Given the description of an element on the screen output the (x, y) to click on. 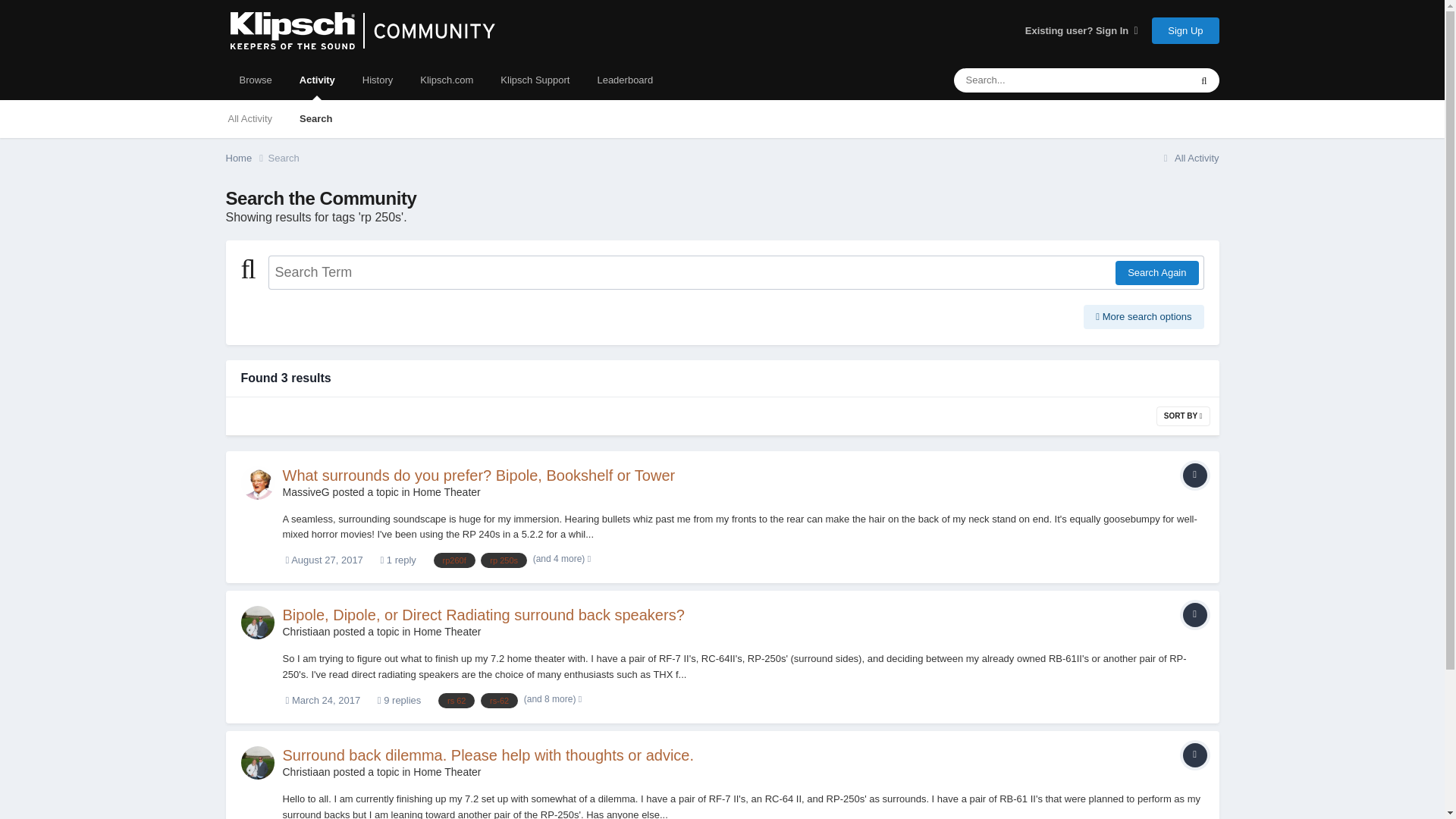
Activity (317, 79)
Search (283, 157)
Find other content tagged with 'rp260f' (454, 560)
Klipsch Support (534, 79)
Home (246, 158)
Existing user? Sign In   (1081, 30)
Topic (1194, 614)
All Activity (1188, 157)
Leaderboard (624, 79)
More search options (1143, 316)
History (377, 79)
Go to Christiaan's profile (306, 631)
Klipsch.com (446, 79)
All Activity (249, 118)
Sign Up (1184, 29)
